Given the description of an element on the screen output the (x, y) to click on. 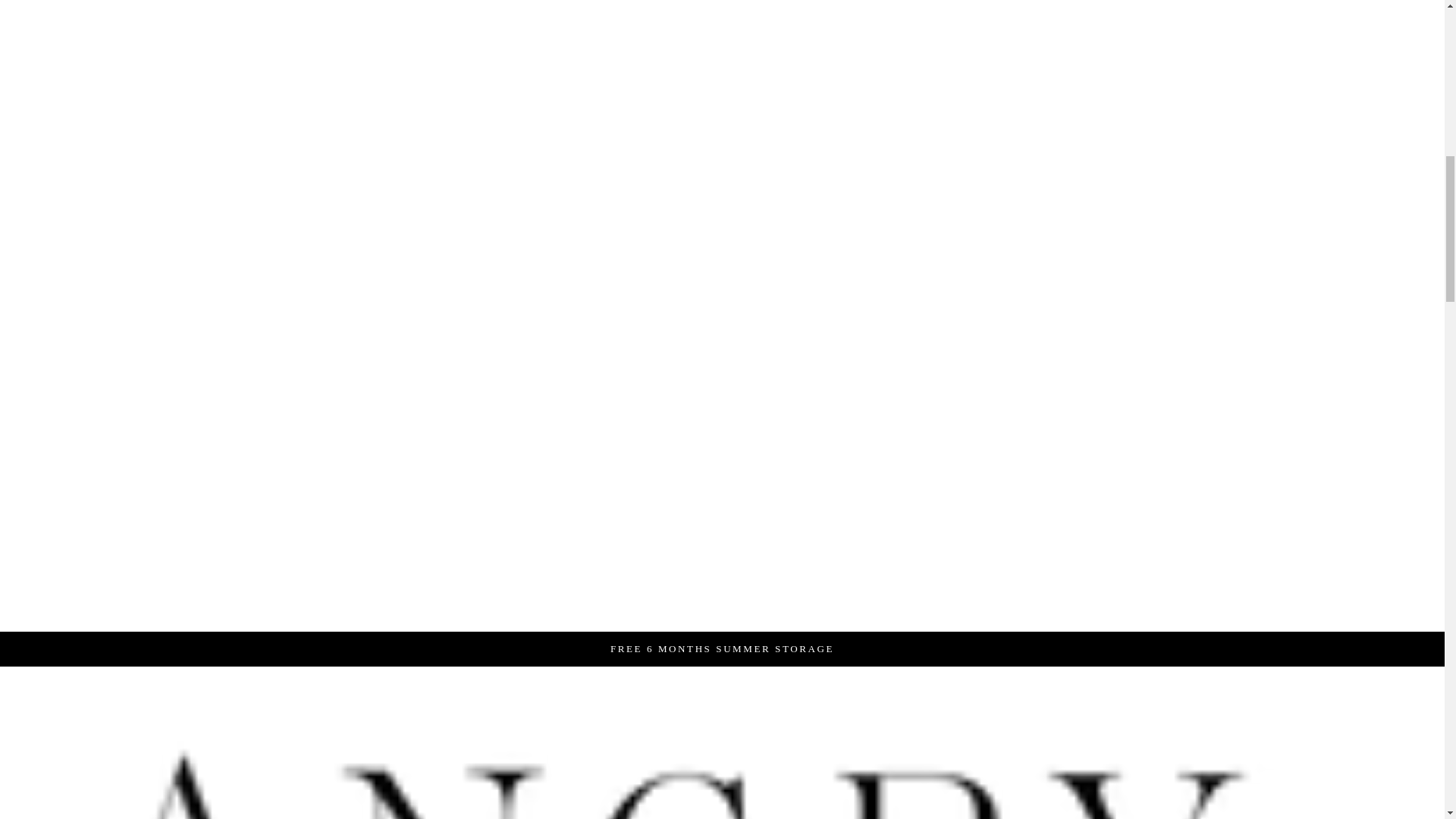
FREE 6 MONTHS SUMMER STORAGE (722, 648)
